Given the description of an element on the screen output the (x, y) to click on. 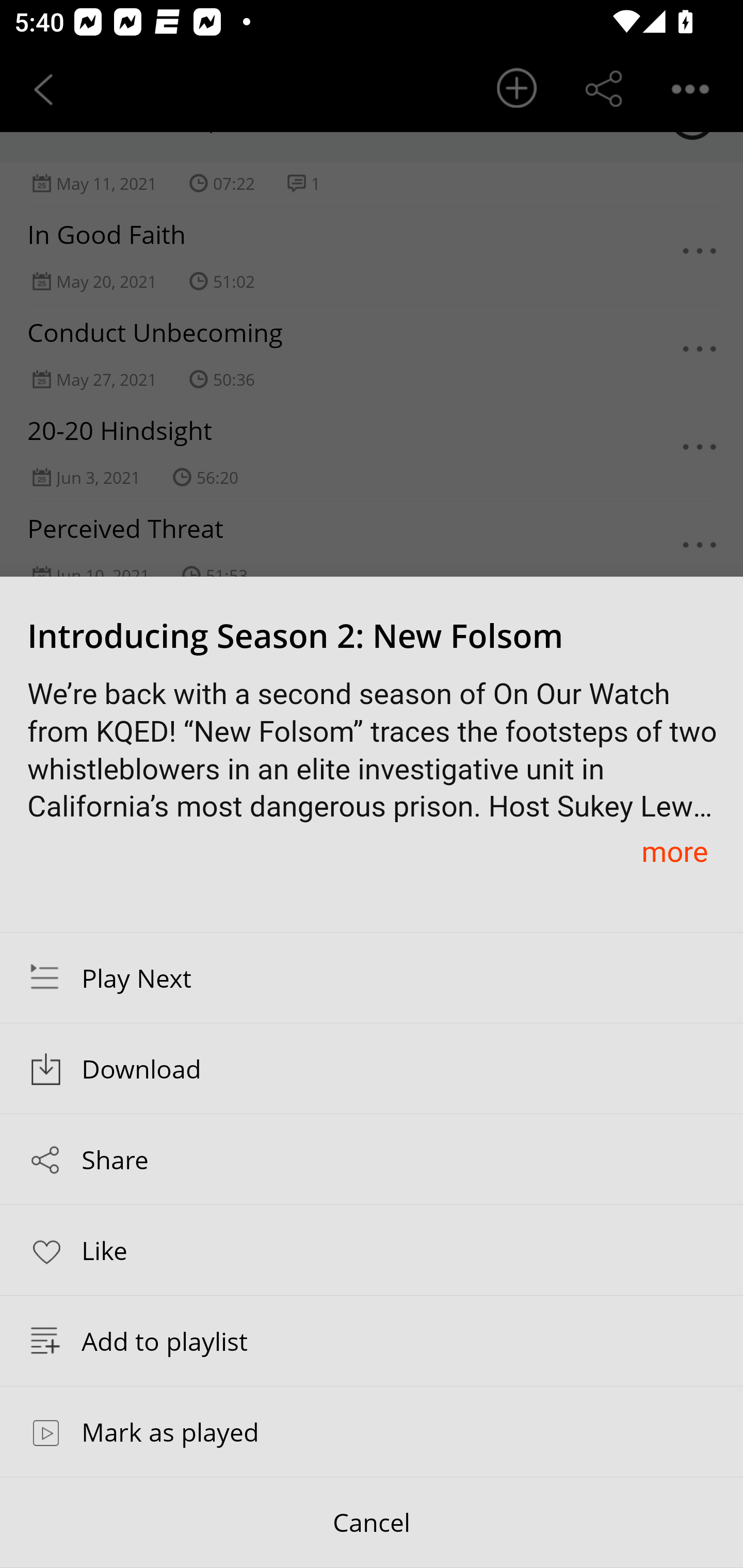
more (674, 851)
Play Next (371, 977)
Download (371, 1068)
Share (371, 1159)
Like (371, 1249)
Add to playlist (371, 1340)
Mark as played (371, 1431)
Cancel (371, 1522)
